Given the description of an element on the screen output the (x, y) to click on. 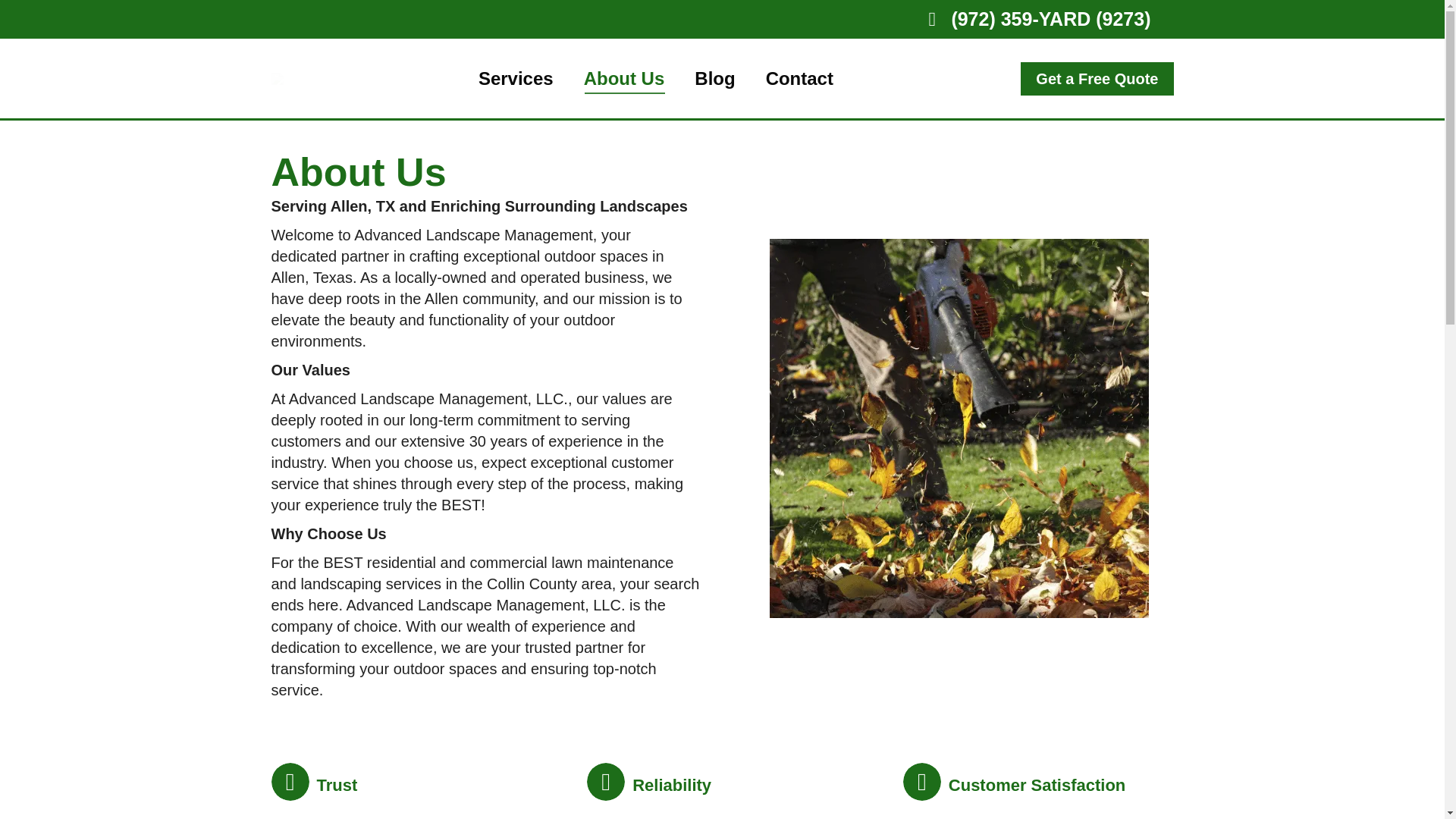
Blog (714, 78)
Contact (798, 78)
Services (516, 78)
Get a Free Quote (1096, 78)
About Us (624, 78)
